Given the description of an element on the screen output the (x, y) to click on. 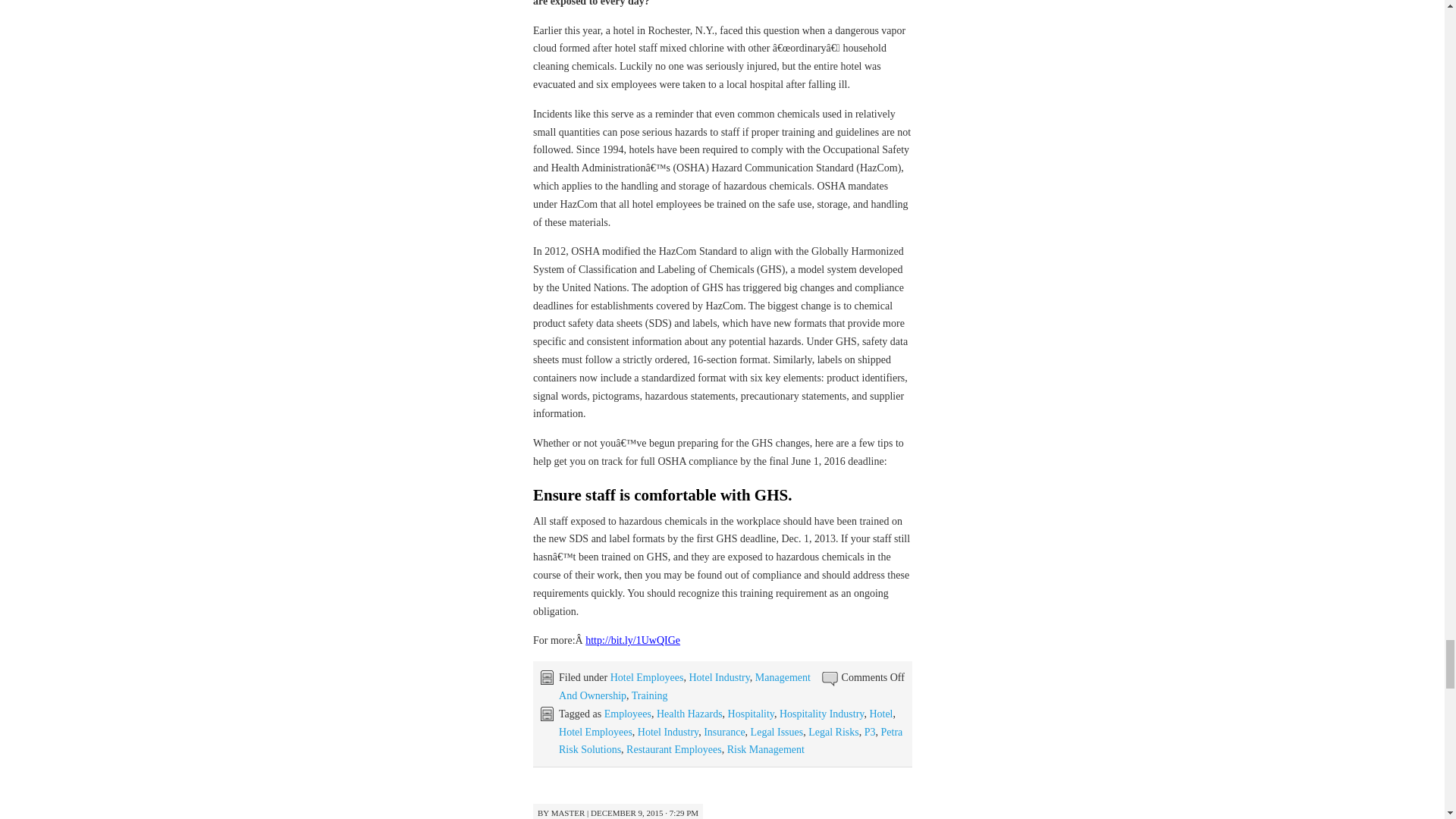
View all posts by master (568, 812)
